Given the description of an element on the screen output the (x, y) to click on. 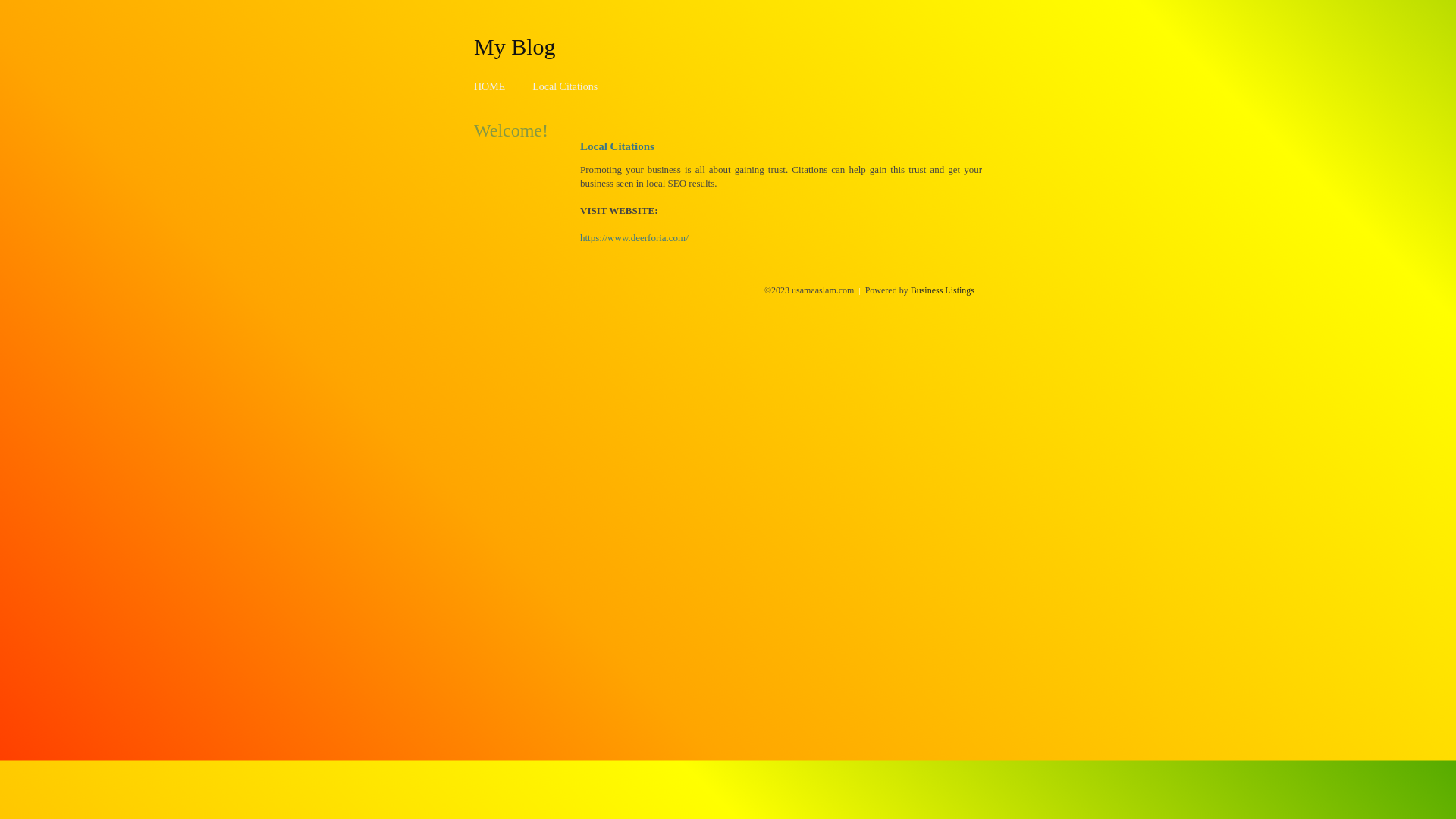
Business Listings Element type: text (942, 290)
HOME Element type: text (489, 86)
https://www.deerforia.com/ Element type: text (634, 237)
Local Citations Element type: text (564, 86)
My Blog Element type: text (514, 46)
